Given the description of an element on the screen output the (x, y) to click on. 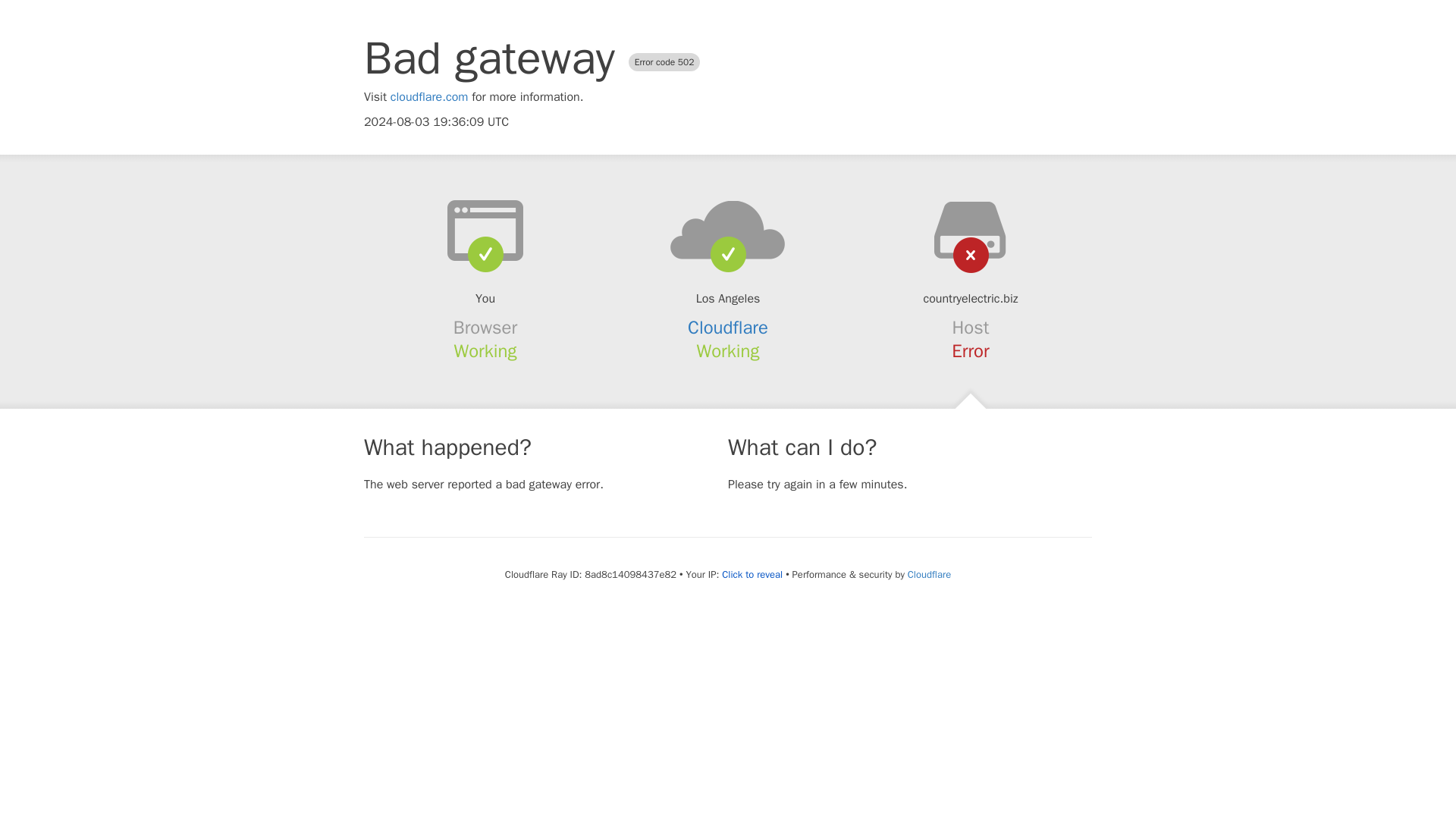
cloudflare.com (429, 96)
Click to reveal (752, 574)
Cloudflare (928, 574)
Cloudflare (727, 327)
